Given the description of an element on the screen output the (x, y) to click on. 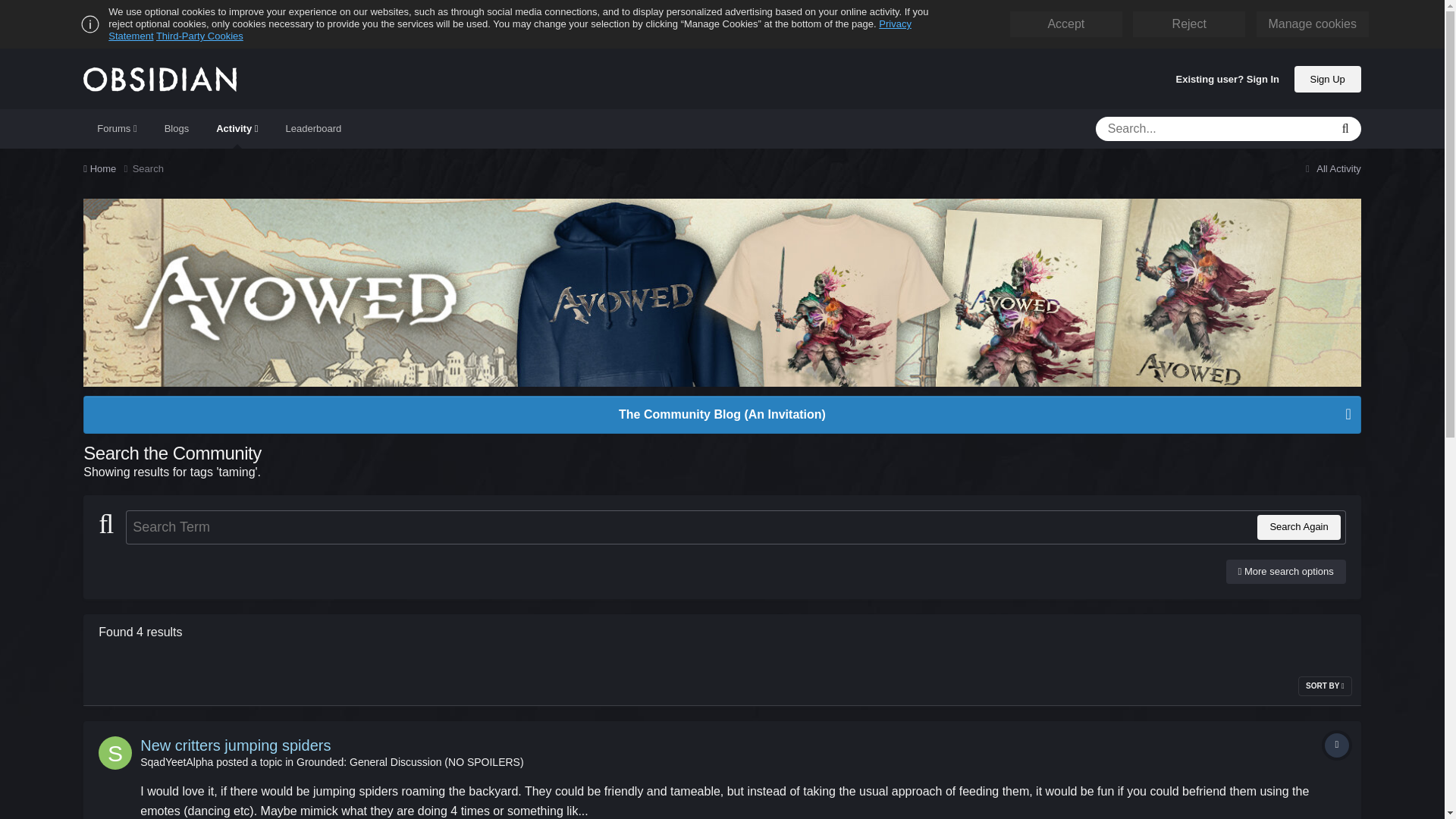
All Activity (1331, 168)
Forums (115, 128)
Go to SqadYeetAlpha's profile (175, 761)
Go to SqadYeetAlpha's profile (115, 752)
Blogs (177, 128)
Sign Up (1326, 78)
Accept (1065, 23)
Home (107, 168)
Manage cookies (1312, 23)
Reject (1189, 23)
Existing user? Sign In (1227, 79)
Third-Party Cookies (199, 35)
Topic (1336, 745)
Leaderboard (313, 128)
Privacy Statement (509, 29)
